Given the description of an element on the screen output the (x, y) to click on. 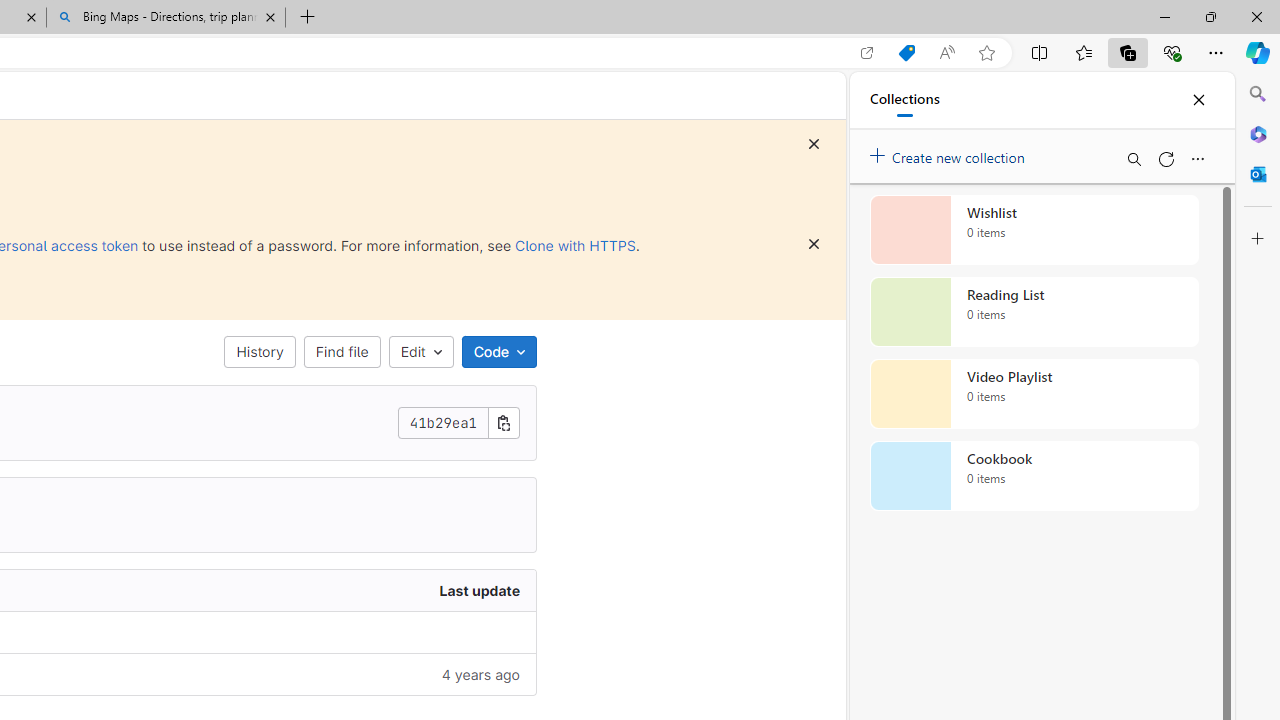
Open in app (867, 53)
More options menu (1197, 158)
Last update (289, 591)
Find file (342, 351)
Wishlist collection, 0 items (1034, 229)
Copy commit SHA (503, 422)
Clone with HTTPS (575, 245)
Video Playlist collection, 0 items (1034, 394)
Class: s16 gl-icon gl-button-icon  (813, 243)
